Given the description of an element on the screen output the (x, y) to click on. 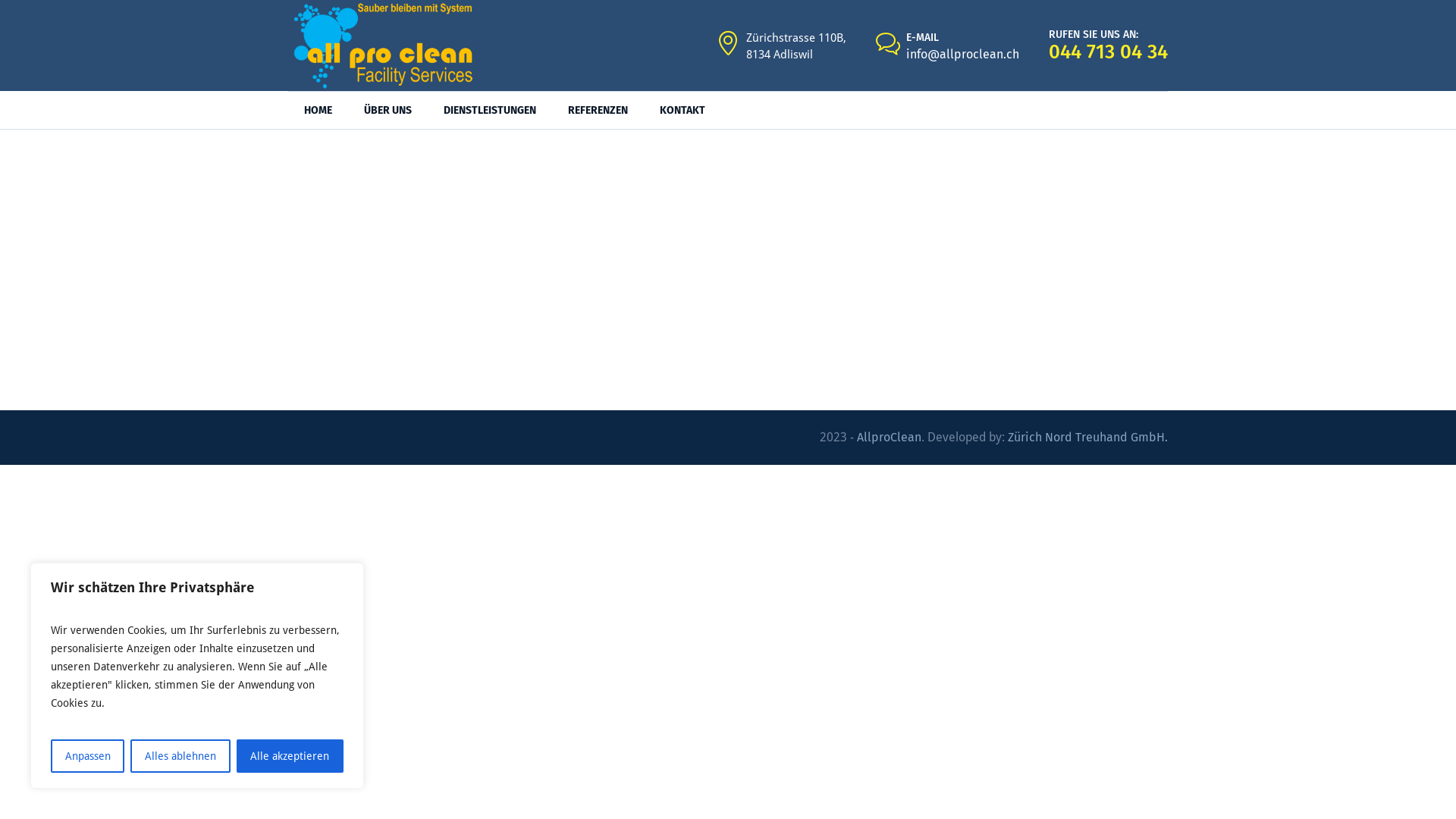
Home Element type: text (680, 240)
DIENSTLEISTUNGEN Element type: text (489, 110)
Alles ablehnen Element type: text (179, 755)
Alle akzeptieren Element type: text (289, 755)
REFERENZEN Element type: text (597, 110)
KONTAKT Element type: text (682, 110)
Anpassen Element type: text (87, 755)
AllproClean Element type: text (888, 436)
info@allproclean.ch Element type: text (962, 54)
HOME Element type: text (318, 110)
